Given the description of an element on the screen output the (x, y) to click on. 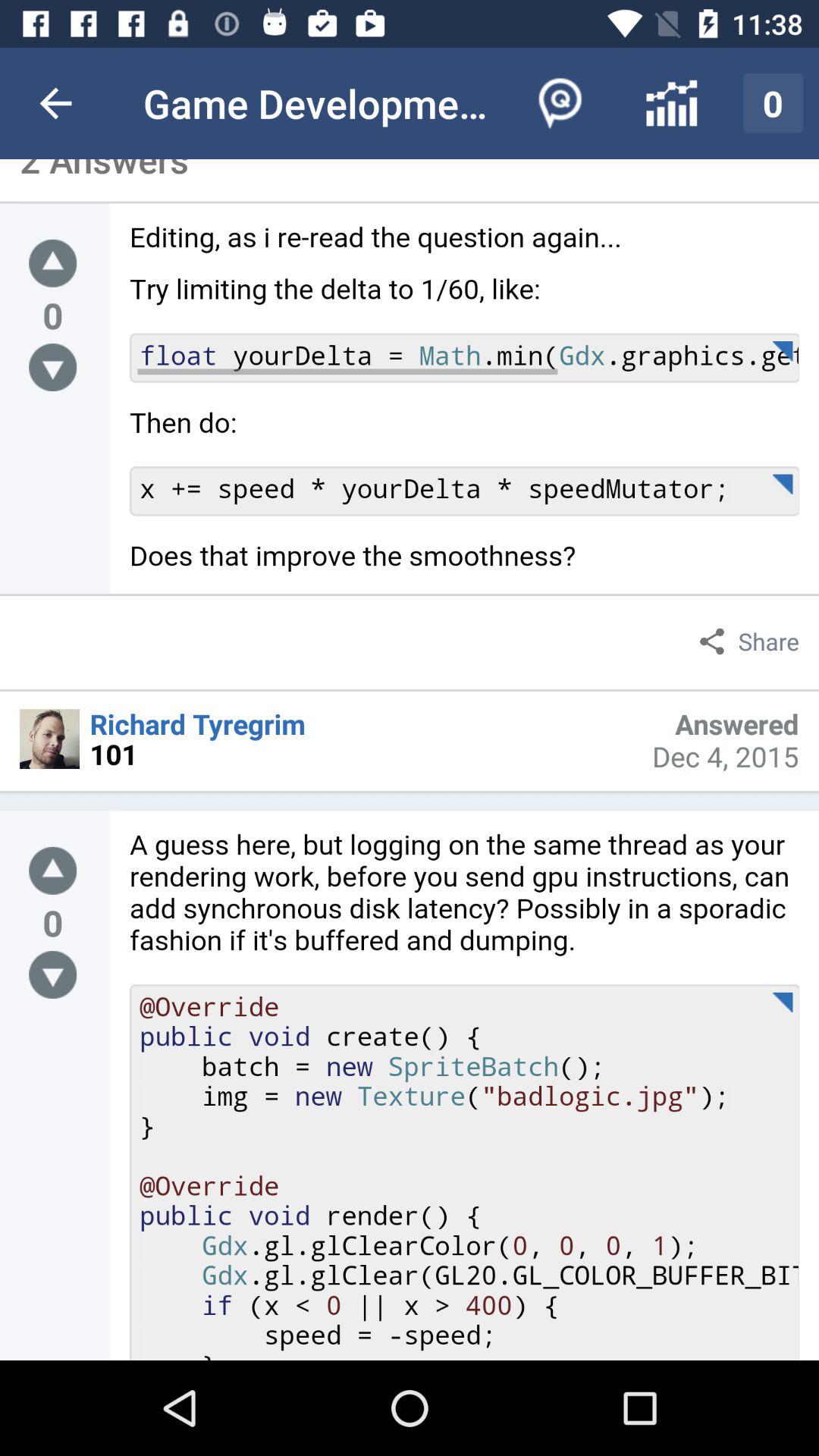
game development code option (464, 408)
